Given the description of an element on the screen output the (x, y) to click on. 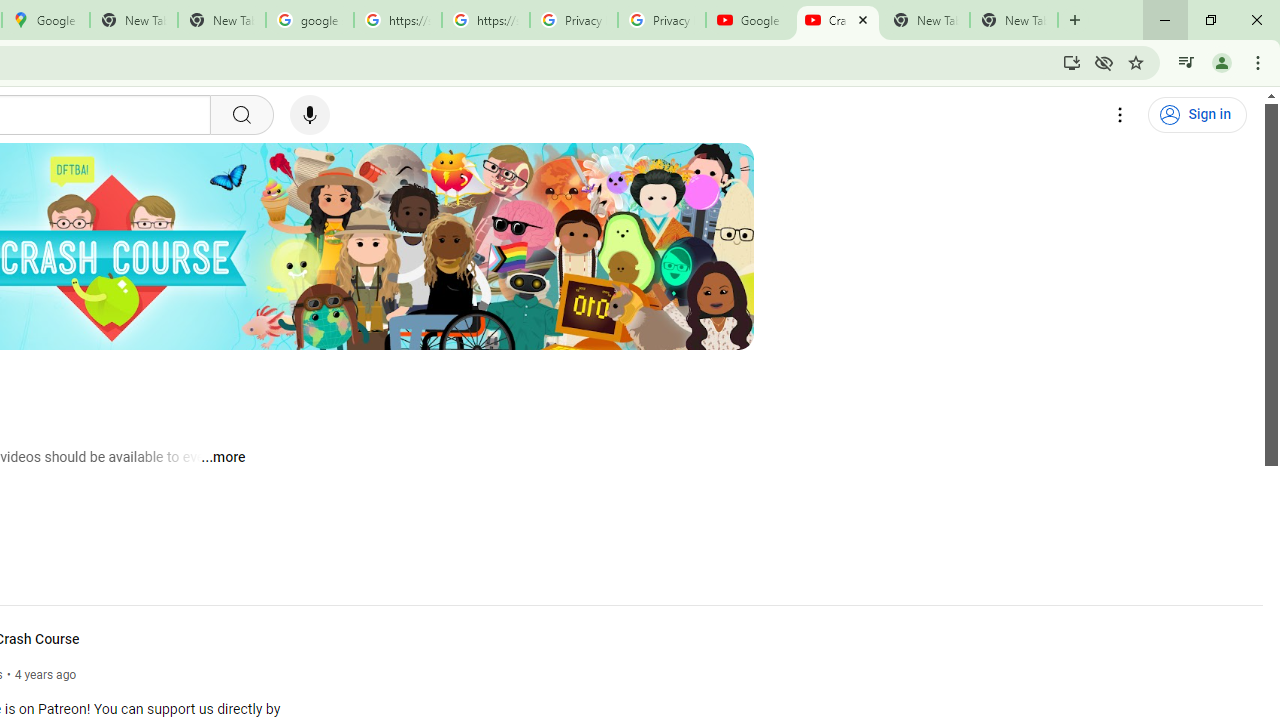
You (1221, 62)
New Tab (1014, 20)
Search (240, 115)
Settings (1119, 115)
New Tab (1075, 20)
Close (862, 19)
Sign in (1197, 115)
